Given the description of an element on the screen output the (x, y) to click on. 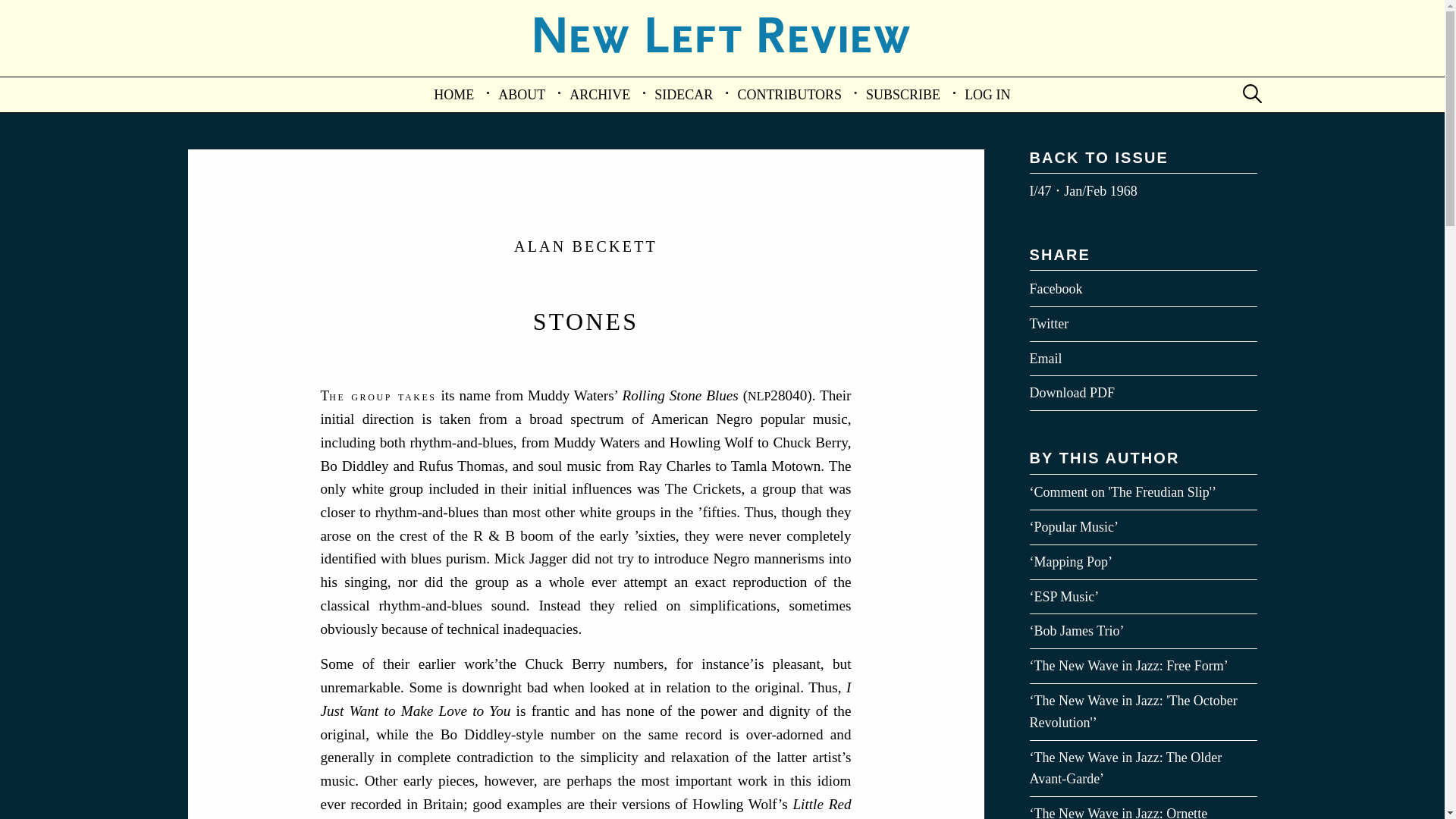
CONTRIBUTORS (789, 94)
SIDECAR (683, 94)
ARCHIVE (599, 94)
NEW LEFT REVIEW (722, 35)
ABOUT (521, 94)
SUBSCRIBE (902, 94)
Email (1143, 358)
Twitter (1143, 324)
Facebook (1143, 288)
NEW LEFT REVIEW (721, 65)
HOME (454, 94)
LOG IN (987, 94)
Download PDF (1143, 392)
